Given the description of an element on the screen output the (x, y) to click on. 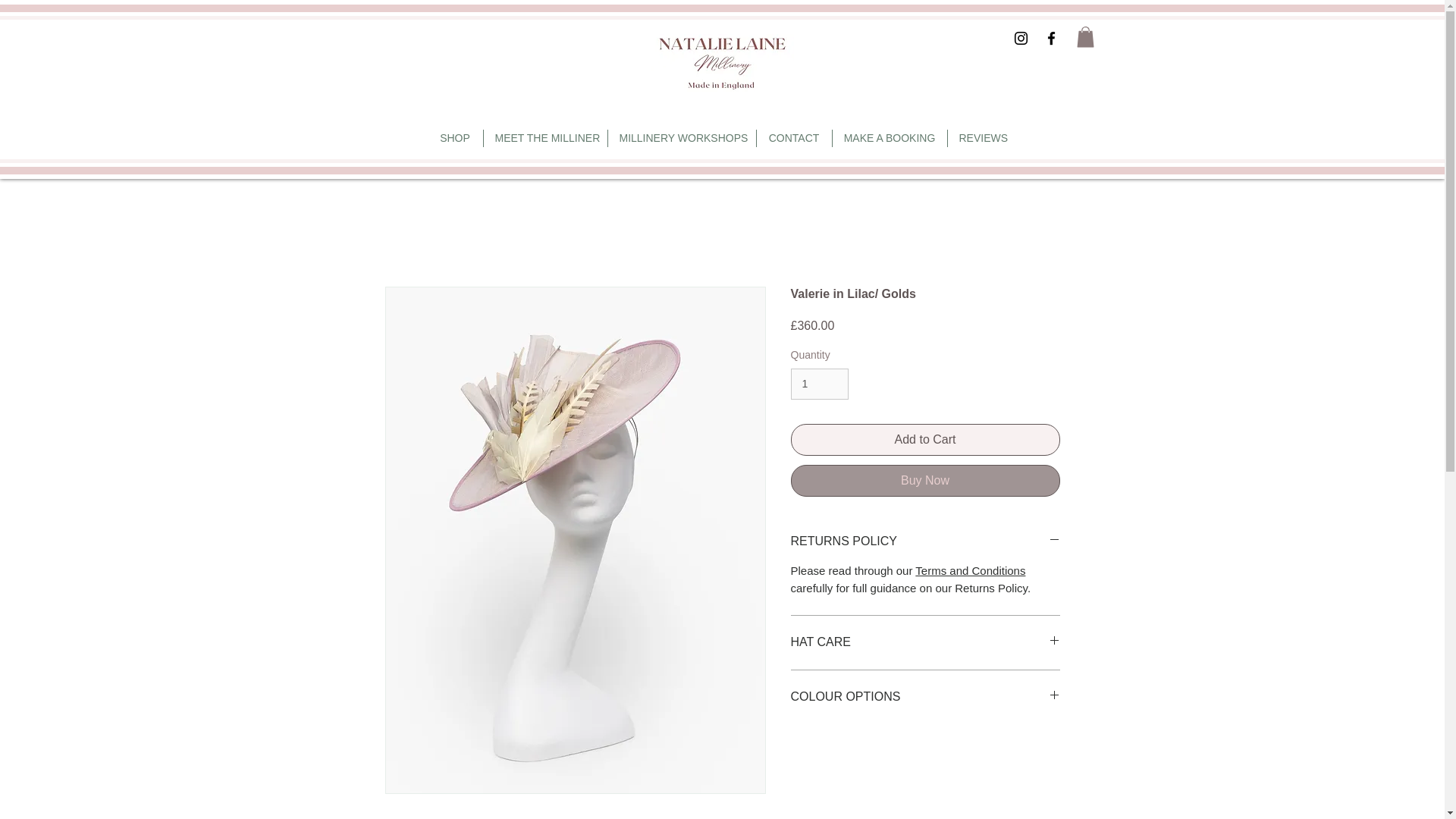
RETURNS POLICY (924, 541)
Add to Cart (924, 439)
MILLINERY WORKSHOPS (681, 138)
SHOP (455, 138)
MEET THE MILLINER (545, 138)
COLOUR OPTIONS (924, 696)
REVIEWS (982, 138)
CONTACT (794, 138)
1 (818, 383)
Natalie Laine  (721, 63)
Terms and Conditions (970, 570)
Buy Now (924, 480)
MAKE A BOOKING (889, 138)
HAT CARE (924, 641)
